Given the description of an element on the screen output the (x, y) to click on. 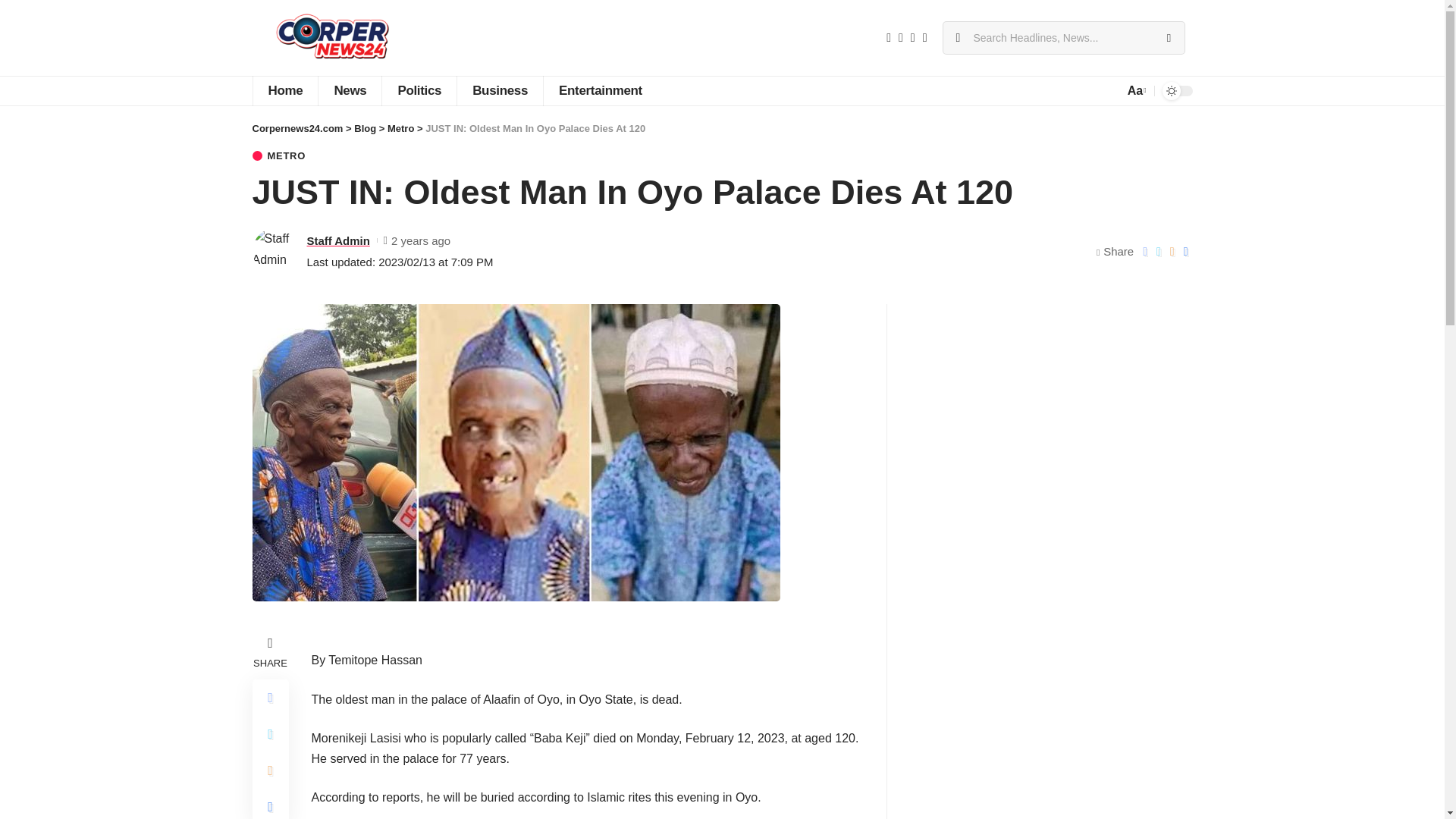
Entertainment (600, 91)
Politics (419, 91)
Aa (1135, 90)
Go to Blog. (364, 128)
Home (284, 91)
Corpernews24.com (331, 37)
Go to the Metro Category archives. (400, 128)
News (349, 91)
Go to Corpernews24.com. (296, 128)
Business (500, 91)
